Given the description of an element on the screen output the (x, y) to click on. 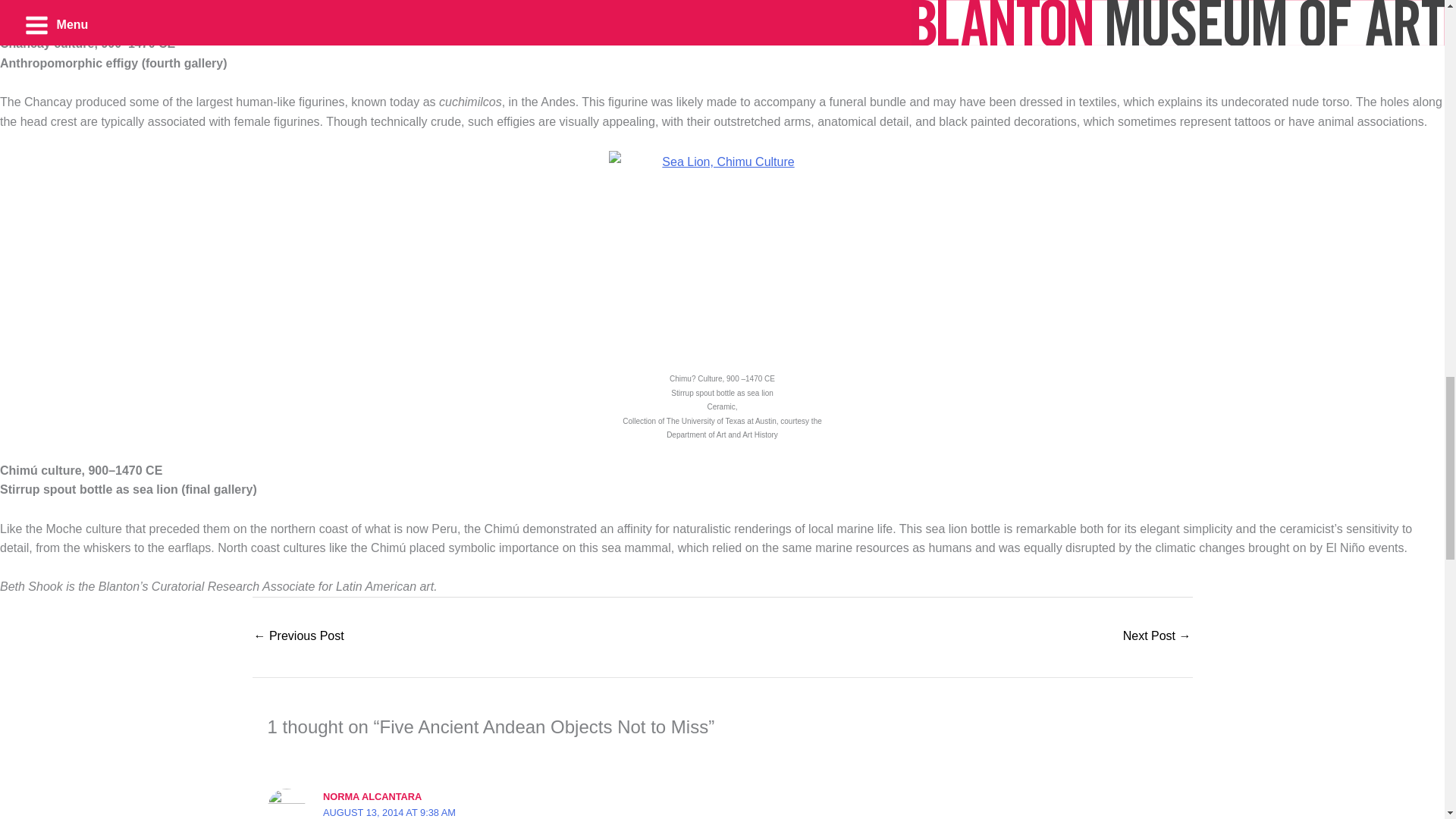
An Interview with Filmmaker Nancy Schiesari (1156, 637)
Volunteering at the Blanton (298, 637)
